Given the description of an element on the screen output the (x, y) to click on. 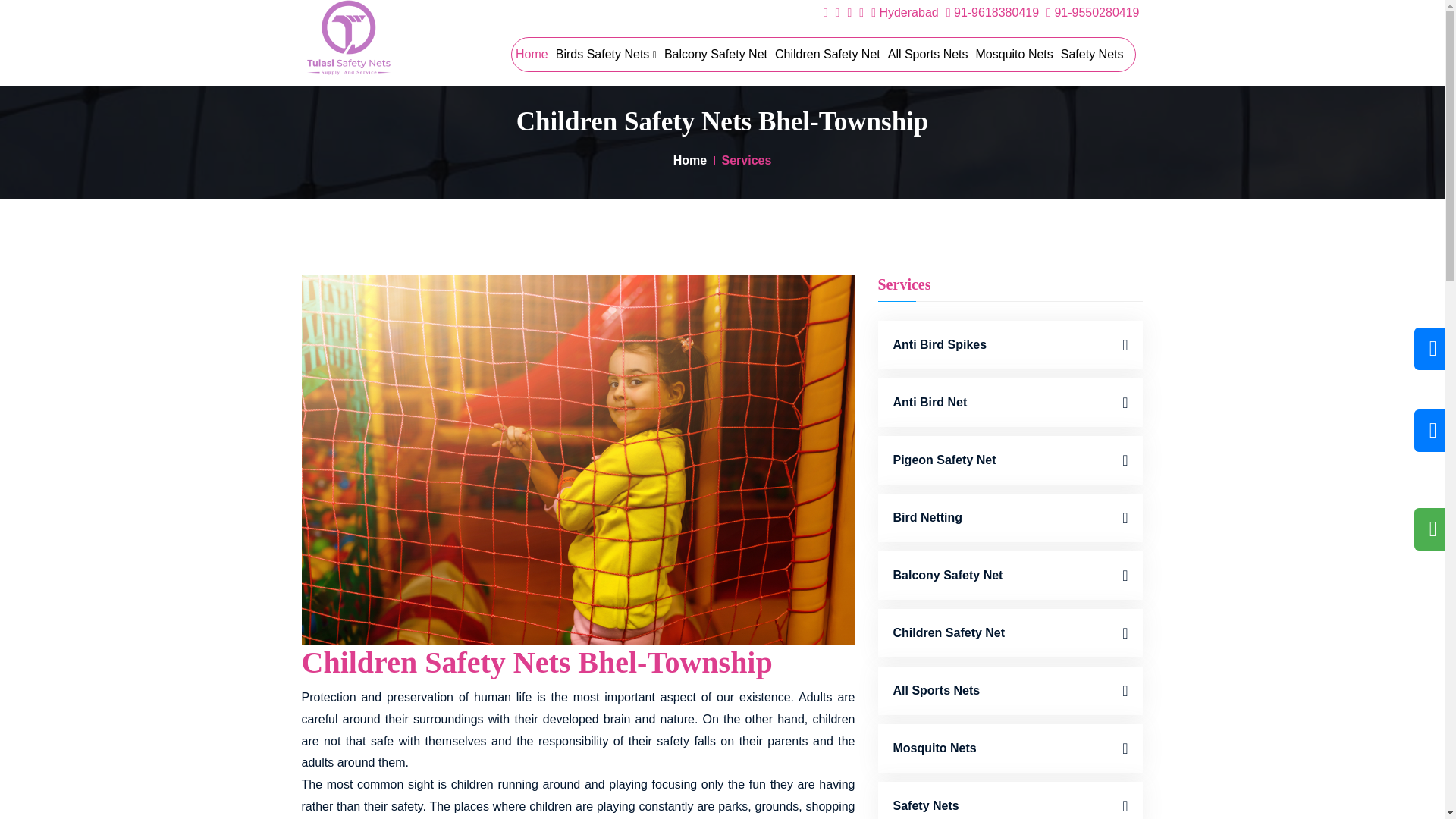
91-9618380419 (992, 11)
Birds Safety Nets (606, 54)
Hyderabad (904, 11)
Home (531, 54)
91-9550280419 (1092, 11)
